Given the description of an element on the screen output the (x, y) to click on. 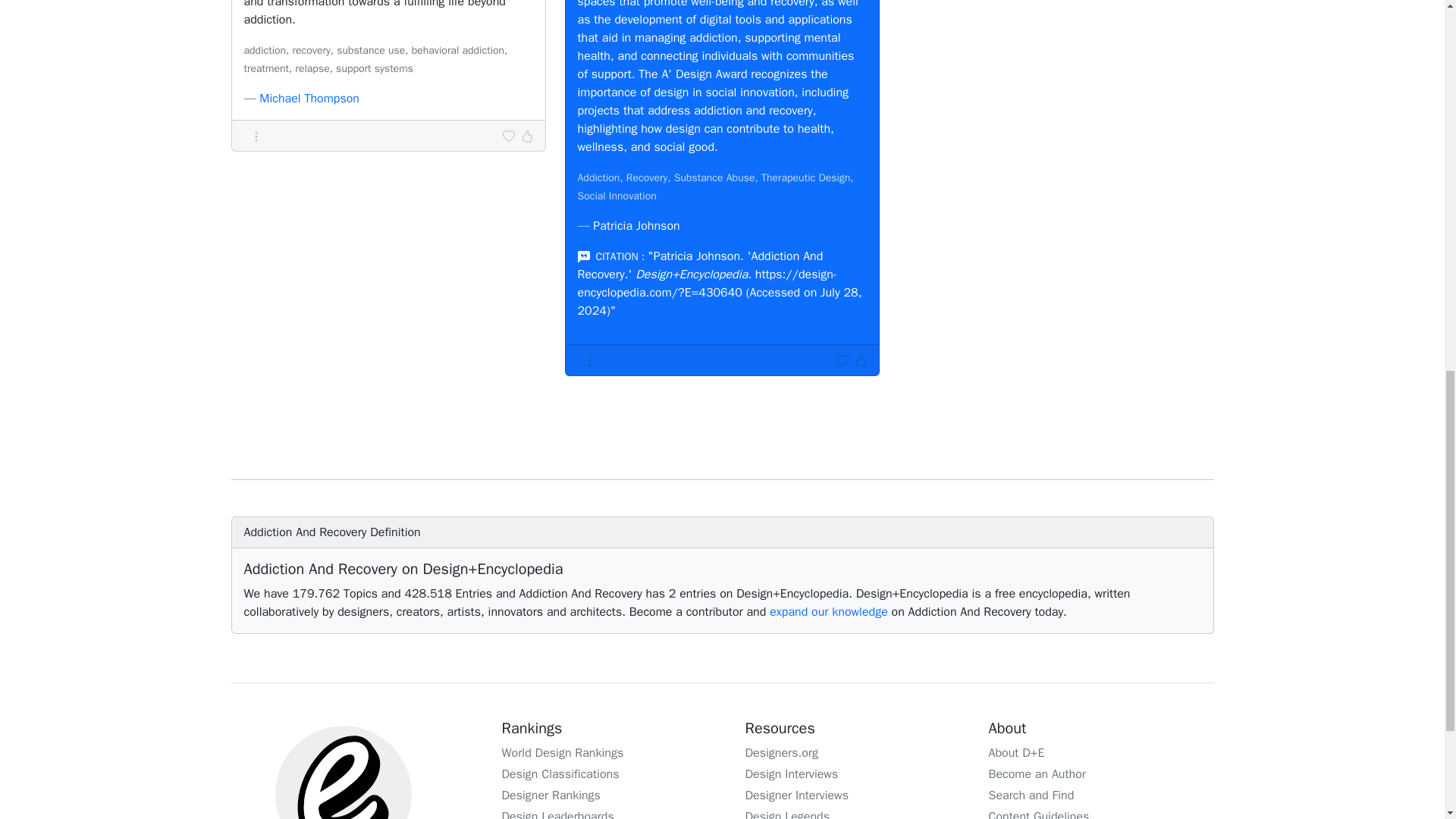
Search and Find (1031, 795)
Design Legends (786, 814)
Designer Rankings (550, 795)
Content Guidelines (1038, 814)
Design Interviews (791, 774)
Designer Interviews (795, 795)
Michael Thompson (309, 98)
Designers.org (781, 752)
expand our knowledge (829, 611)
Design Leaderboards (558, 814)
Become an Author (1037, 774)
Design Classifications (561, 774)
World Design Rankings (563, 752)
Patricia Johnson (635, 225)
